Given the description of an element on the screen output the (x, y) to click on. 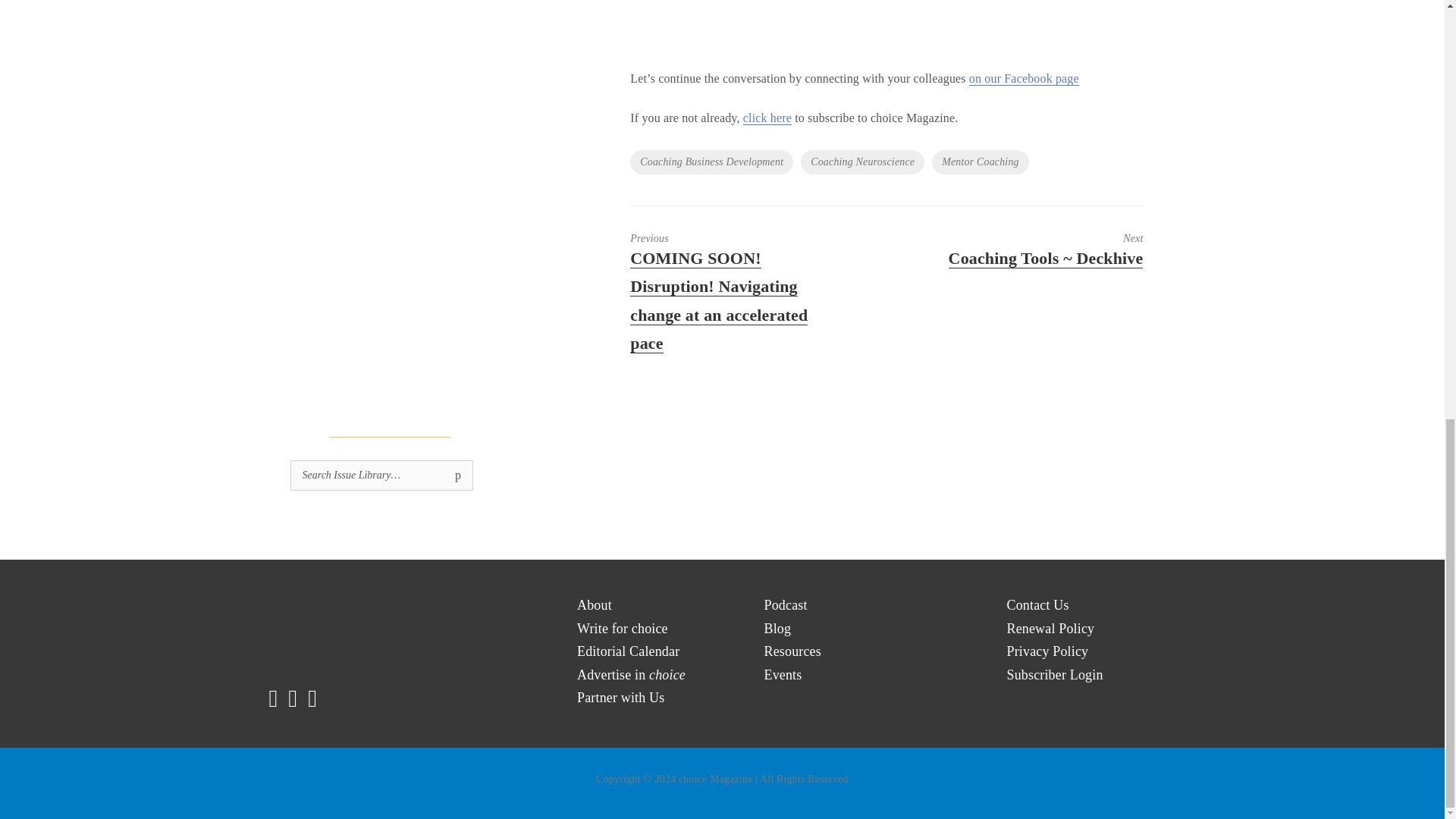
Search for: (381, 475)
Editorial Calendar (627, 651)
Mentor Coaching (980, 161)
About (593, 605)
Coaching Business Development (711, 161)
Coaching Neuroscience (862, 161)
click here (767, 118)
Write for choice (622, 628)
on our Facebook page (1023, 78)
